Given the description of an element on the screen output the (x, y) to click on. 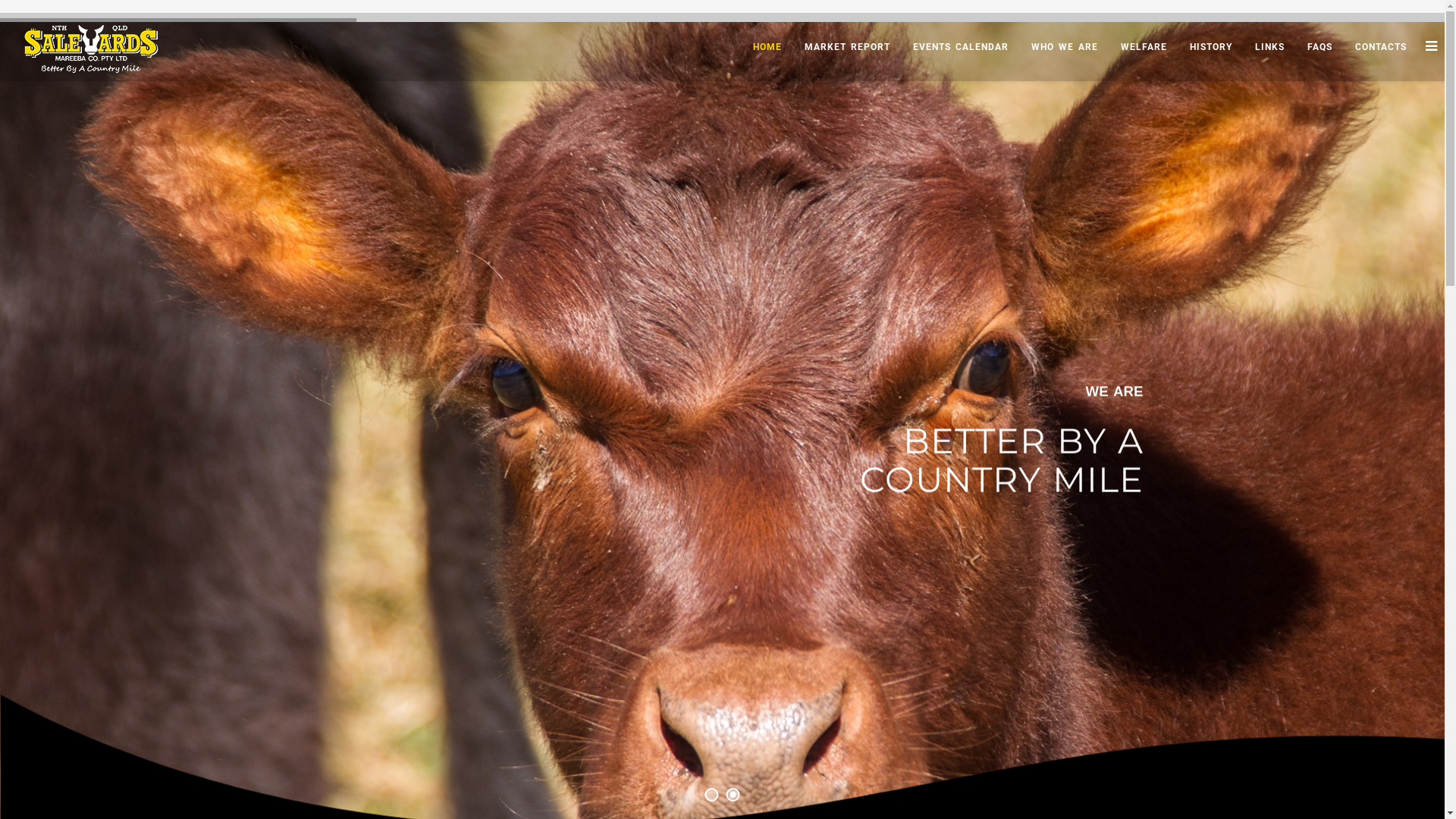
MARKET REPORT Element type: text (847, 46)
EVENTS CALENDAR Element type: text (960, 46)
WHO WE ARE Element type: text (1064, 46)
CONTACTS Element type: text (1380, 46)
WELFARE Element type: text (1143, 46)
HISTORY Element type: text (1210, 46)
LINKS Element type: text (1269, 46)
HOME Element type: text (767, 46)
FAQS Element type: text (1319, 46)
